Given the description of an element on the screen output the (x, y) to click on. 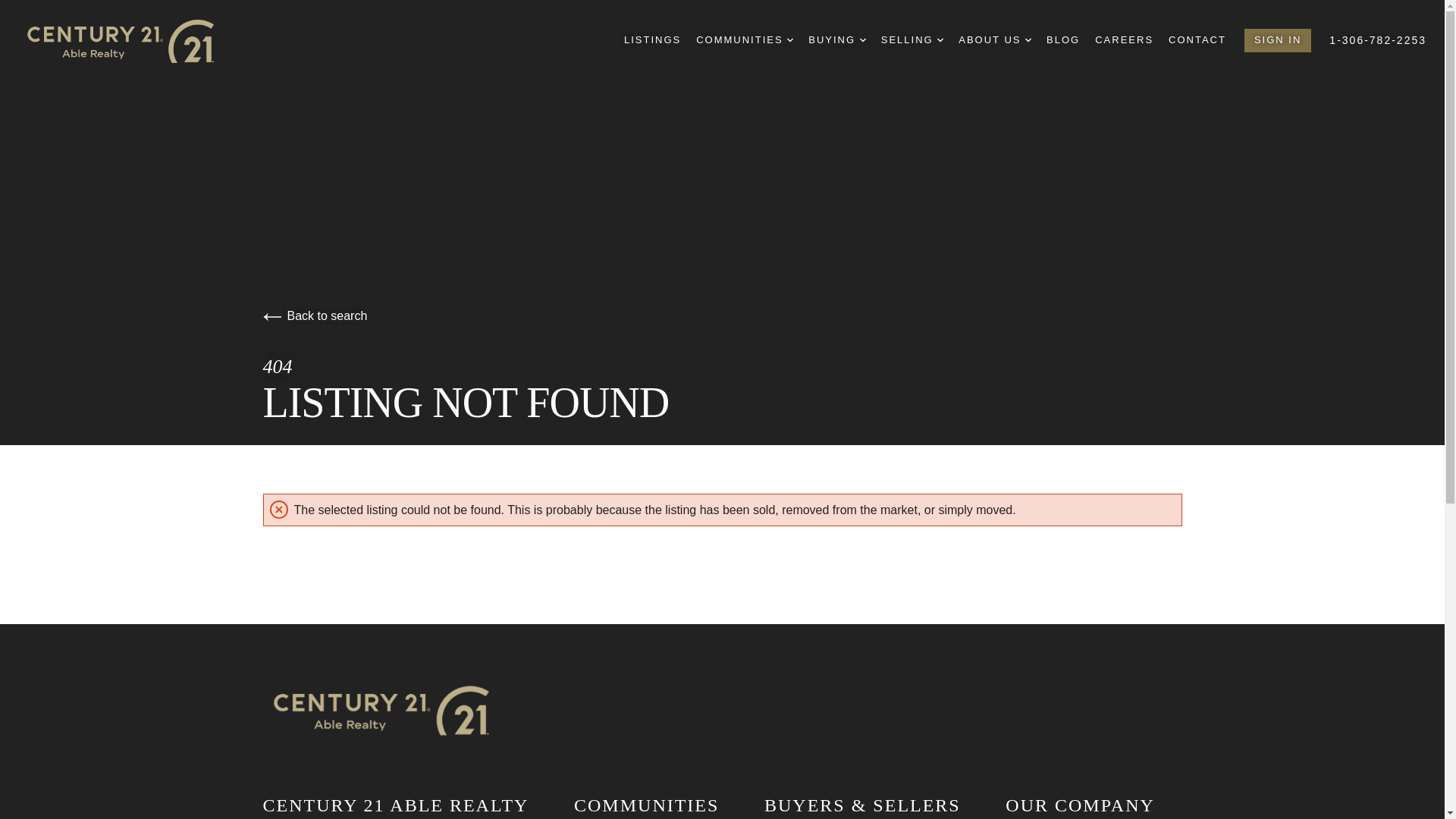
LISTINGS (652, 40)
CAREERS (1123, 40)
COMMUNITIES DROPDOWN ARROW (744, 40)
ABOUT US DROPDOWN ARROW (994, 40)
BLOG (1063, 40)
DROPDOWN ARROW (863, 39)
DROPDOWN ARROW (940, 39)
BUYING DROPDOWN ARROW (836, 40)
CONTACT (1197, 40)
SELLING DROPDOWN ARROW (911, 40)
